Given the description of an element on the screen output the (x, y) to click on. 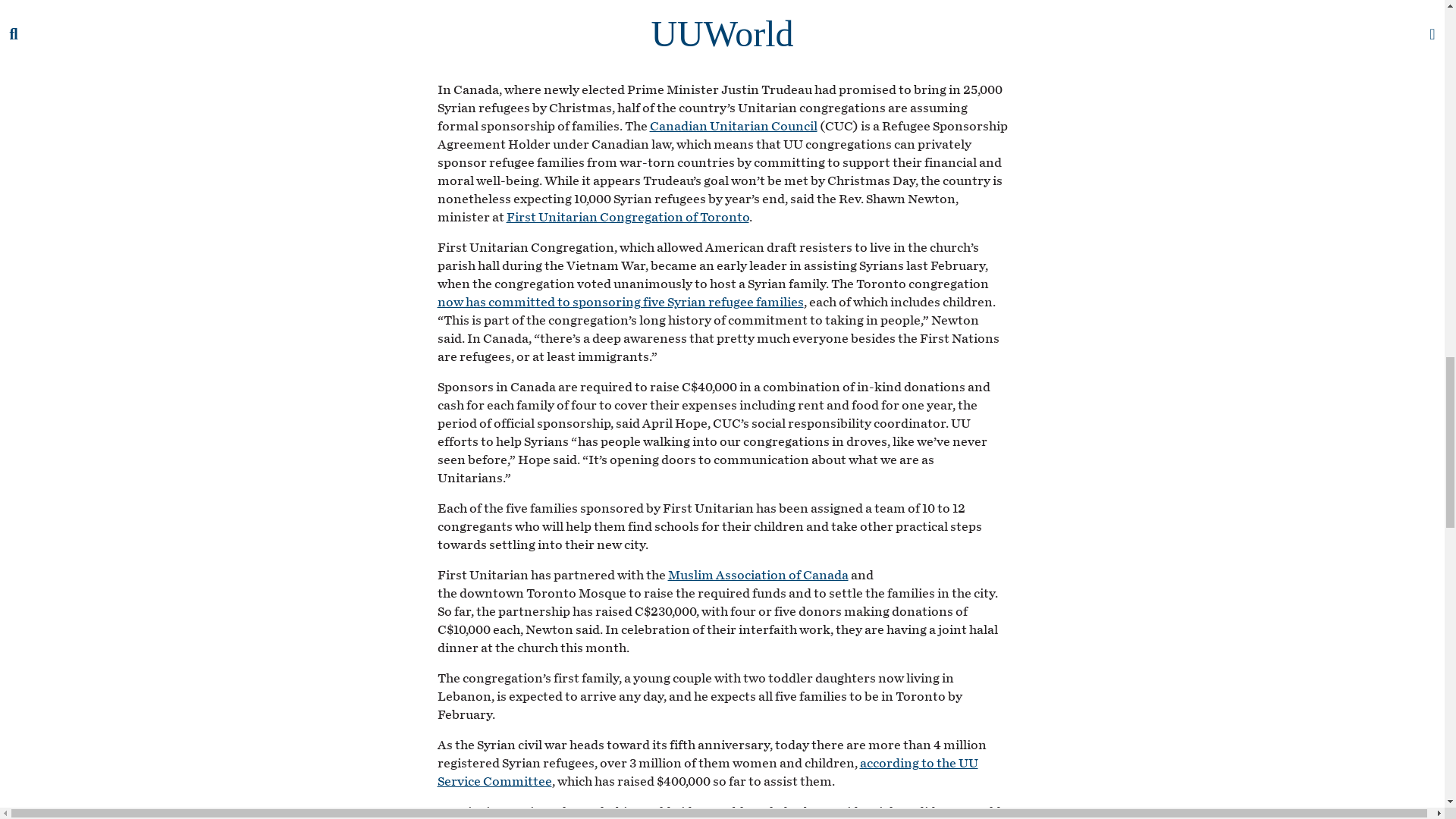
now has committed to sponsoring five Syrian refugee families (619, 301)
First Unitarian Congregation of Toronto (627, 216)
Canadian Unitarian Council (732, 125)
according to the UU Service Committee (706, 771)
Muslim Association of Canada (756, 575)
